Given the description of an element on the screen output the (x, y) to click on. 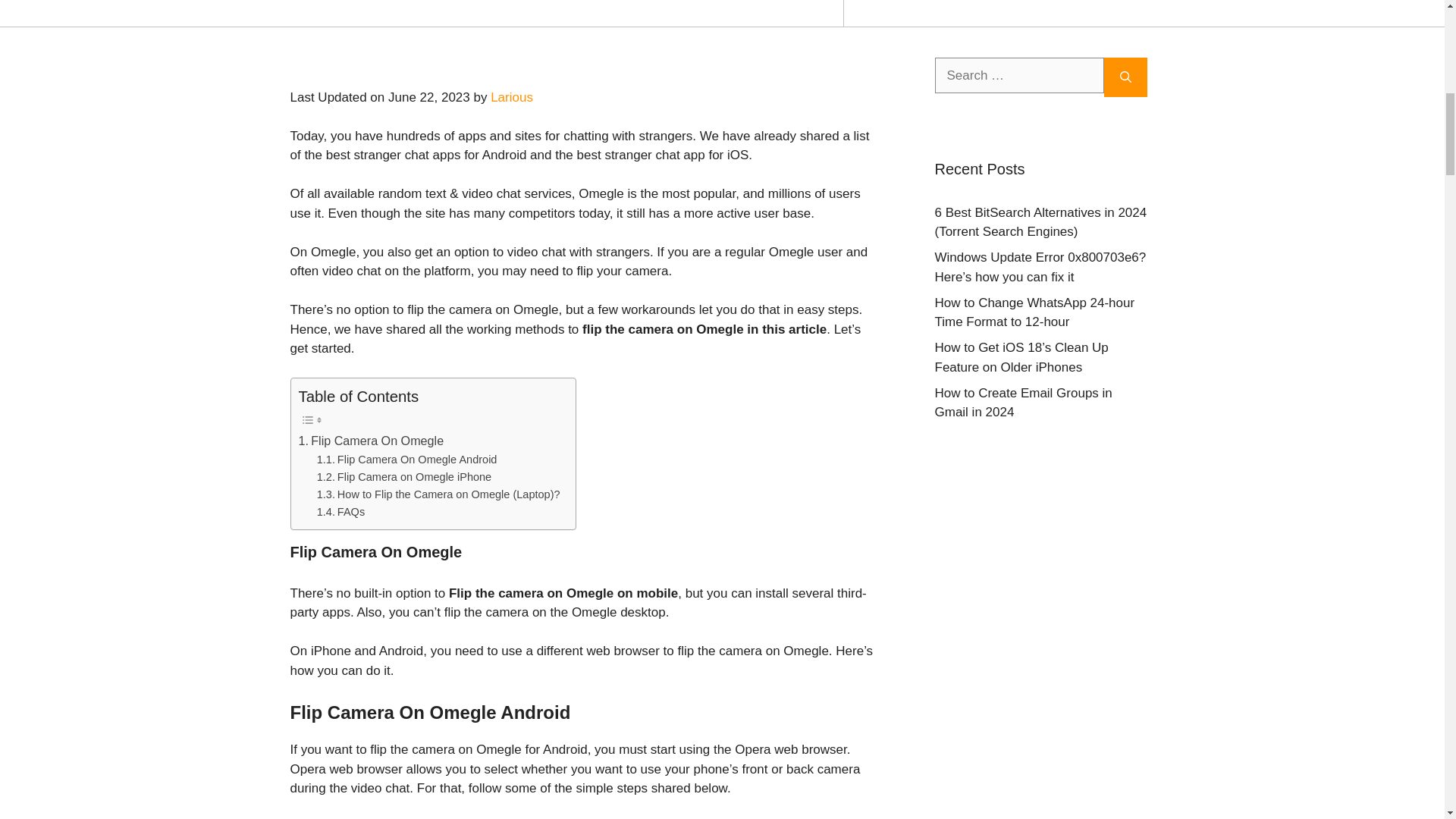
Flip Camera on Omegle iPhone (404, 477)
Flip Camera On Omegle (371, 441)
Flip Camera On Omegle Android (407, 459)
FAQs (341, 511)
Flip Camera on Omegle iPhone (404, 477)
FAQs (341, 511)
Flip Camera On Omegle Android (407, 459)
Larious (511, 97)
Flip Camera On Omegle (371, 441)
